Given the description of an element on the screen output the (x, y) to click on. 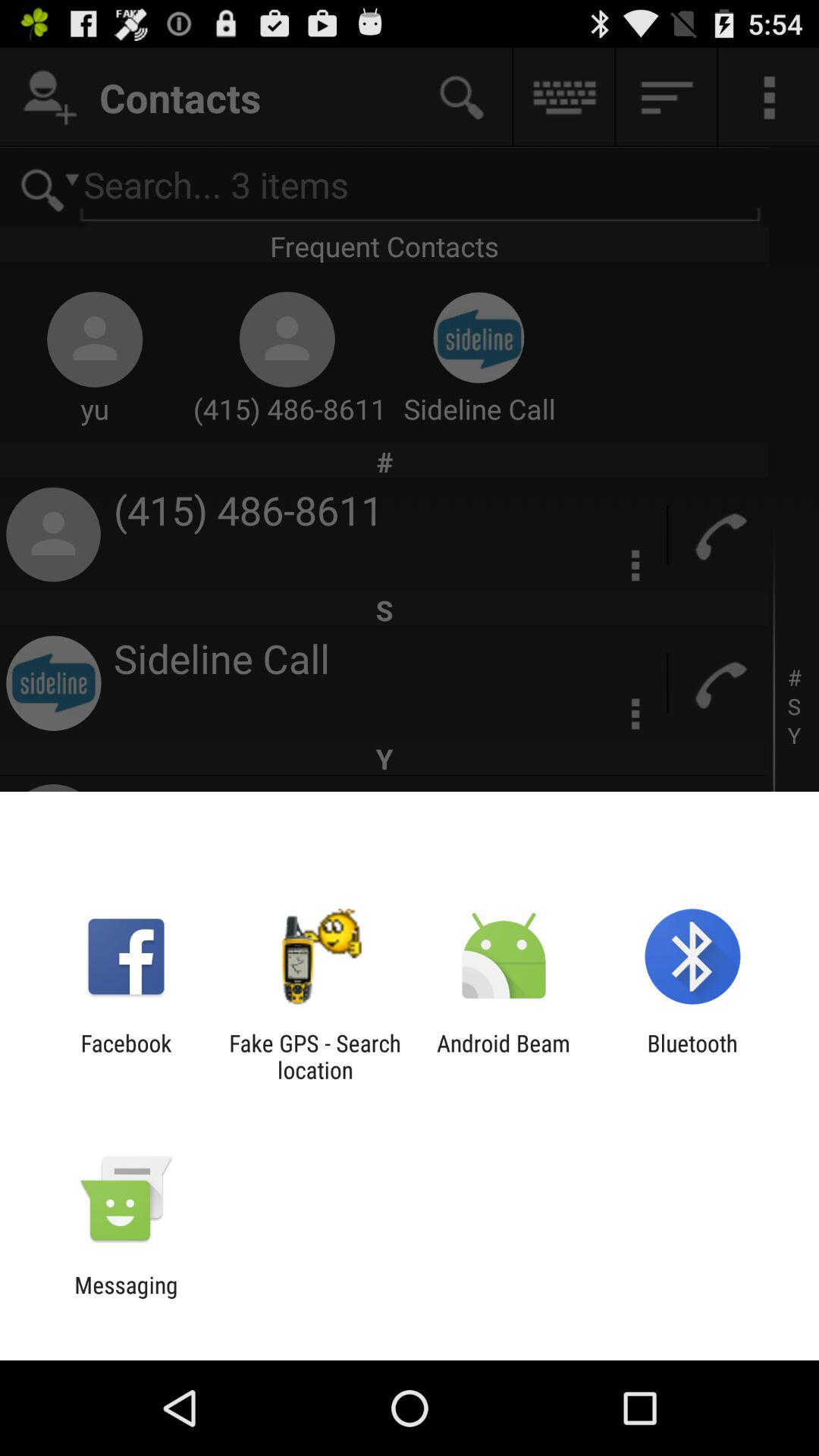
jump to the android beam app (503, 1056)
